Given the description of an element on the screen output the (x, y) to click on. 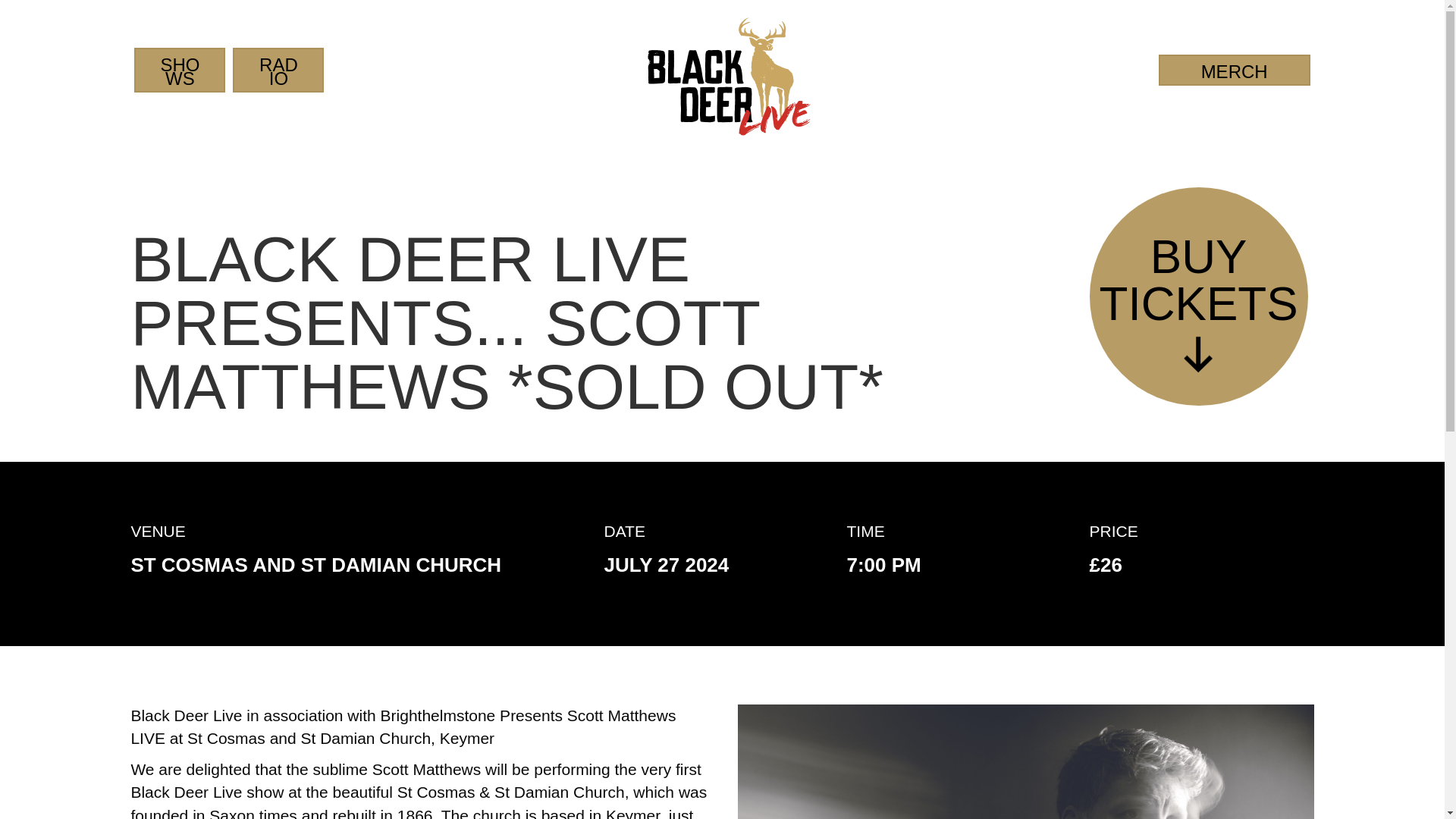
MERCH (1201, 296)
SHOWS (1234, 69)
RADIO (179, 68)
